Given the description of an element on the screen output the (x, y) to click on. 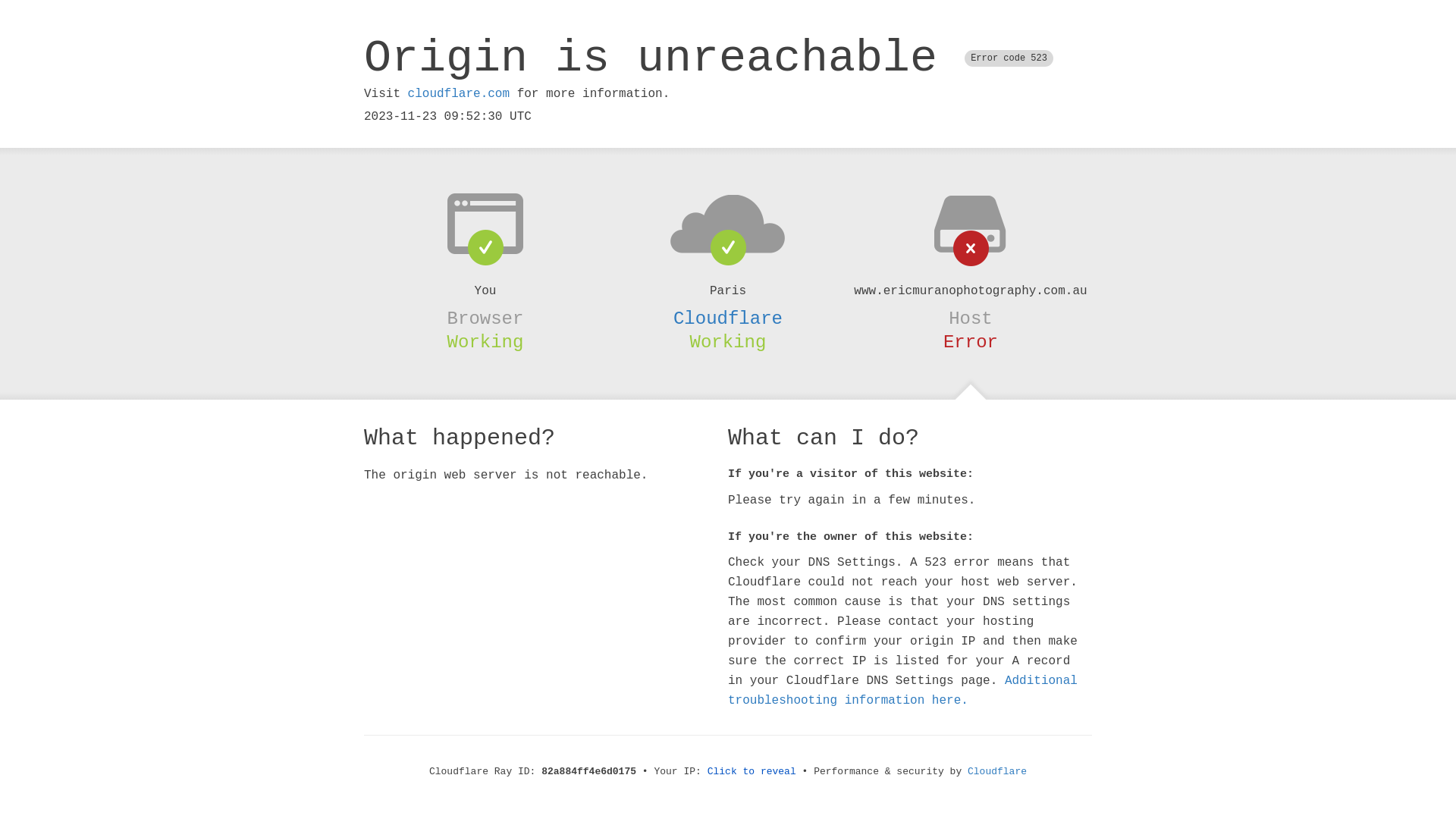
Cloudflare Element type: text (727, 318)
Additional troubleshooting information here. Element type: text (902, 690)
Click to reveal Element type: text (751, 771)
cloudflare.com Element type: text (458, 93)
Cloudflare Element type: text (996, 771)
